Given the description of an element on the screen output the (x, y) to click on. 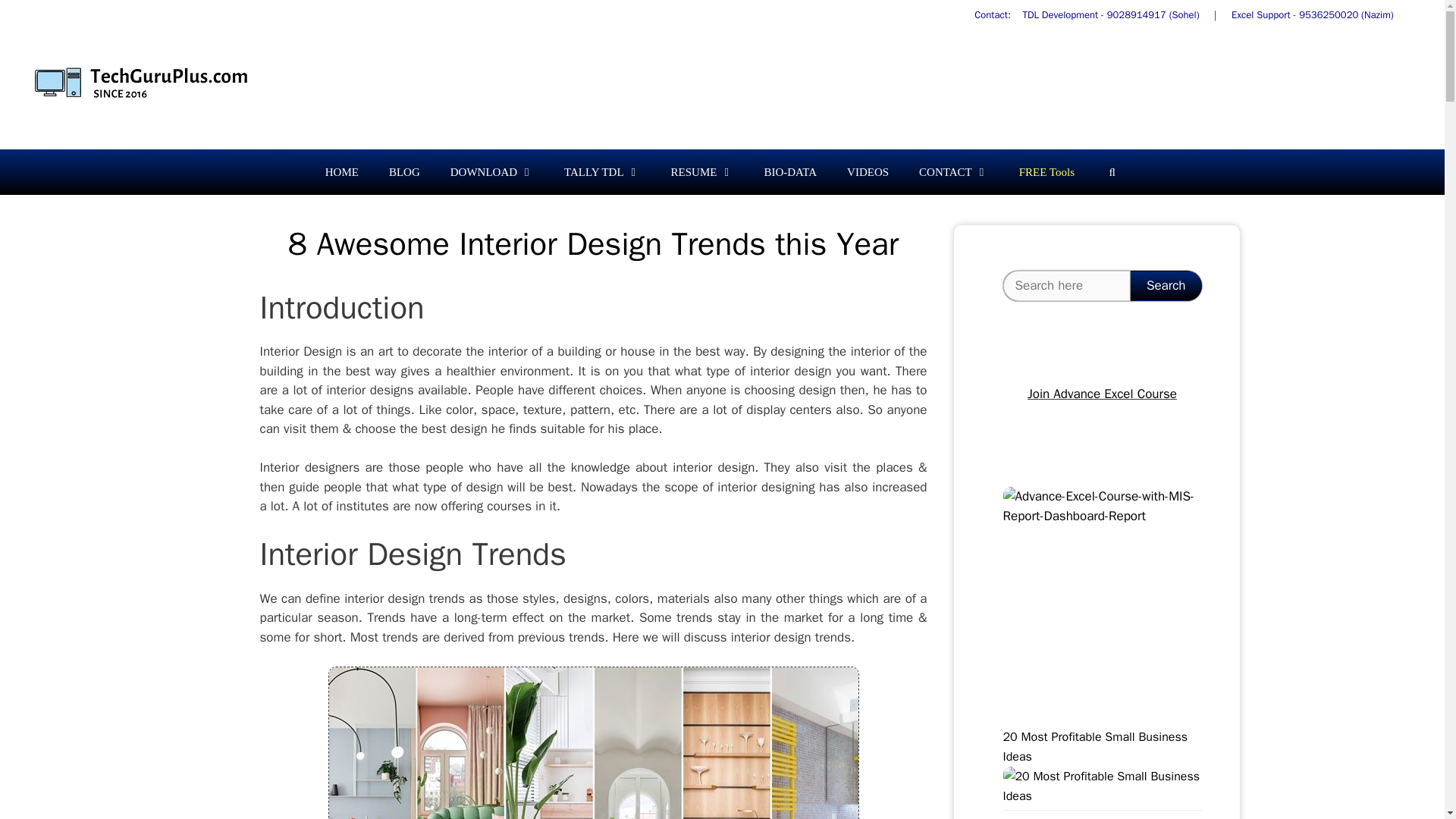
FREE Tools (1046, 171)
VIDEOS (867, 171)
TALLY TDL (602, 171)
BIO-DATA (789, 171)
RESUME (702, 171)
HOME (342, 171)
Home (342, 171)
BLOG (404, 171)
CONTACT (954, 171)
20 Most Profitable Small Business Ideas (1102, 795)
